Given the description of an element on the screen output the (x, y) to click on. 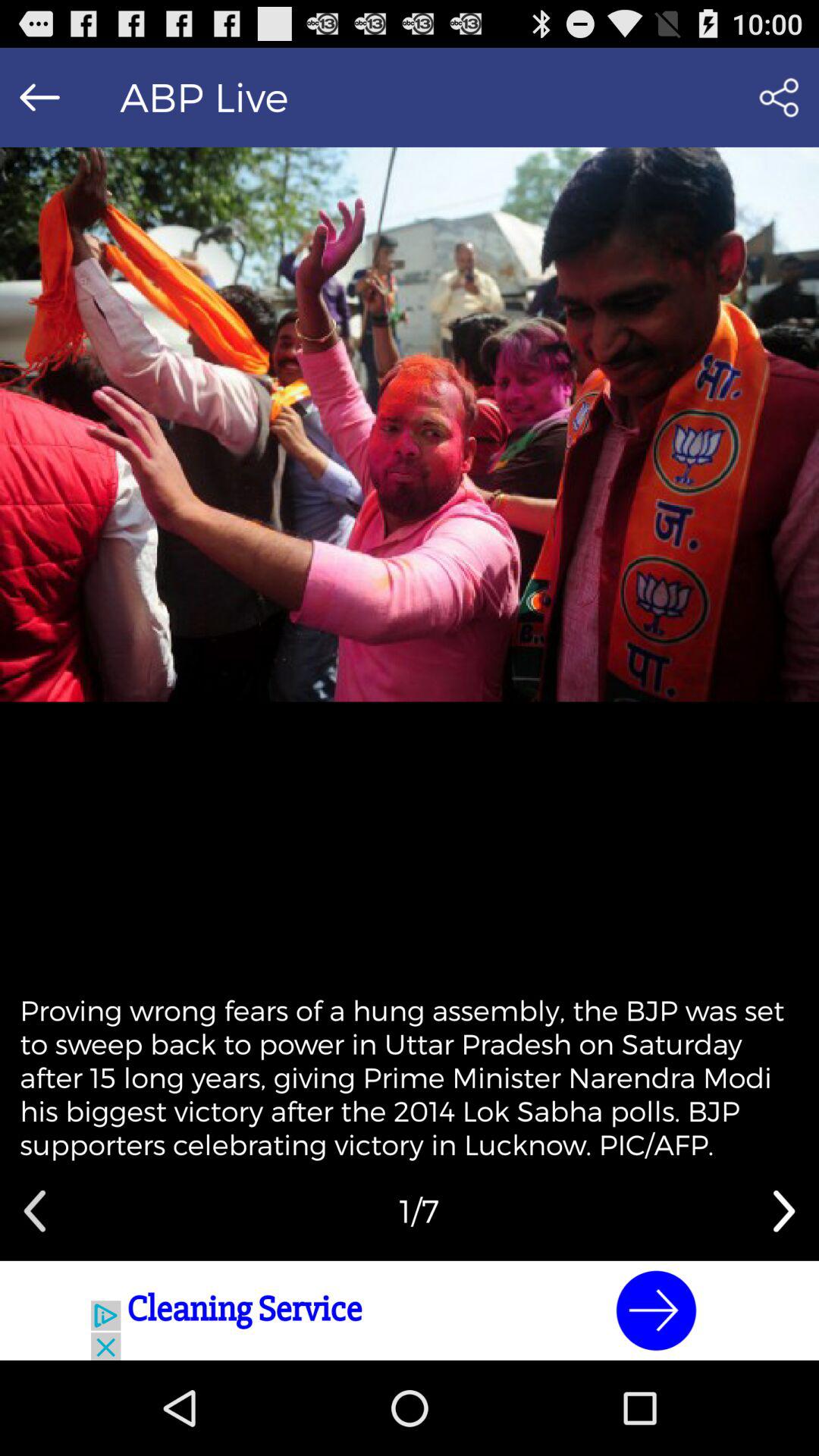
next page (784, 1211)
